Given the description of an element on the screen output the (x, y) to click on. 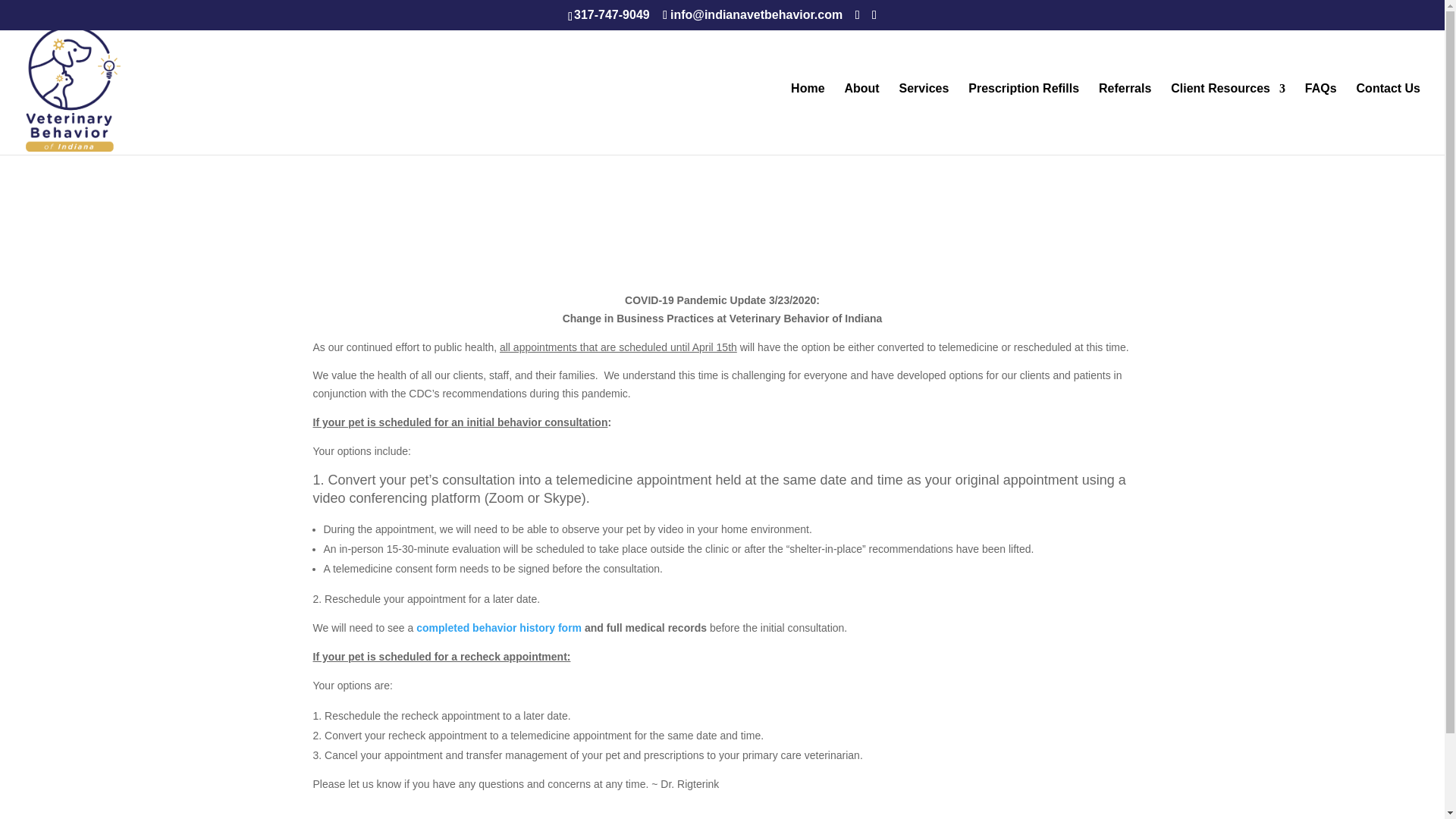
Prescription Refills (1023, 118)
Contact Us (1388, 118)
317-747-9049 (611, 14)
Client Resources (1227, 118)
completed behavior history form (498, 627)
